Given the description of an element on the screen output the (x, y) to click on. 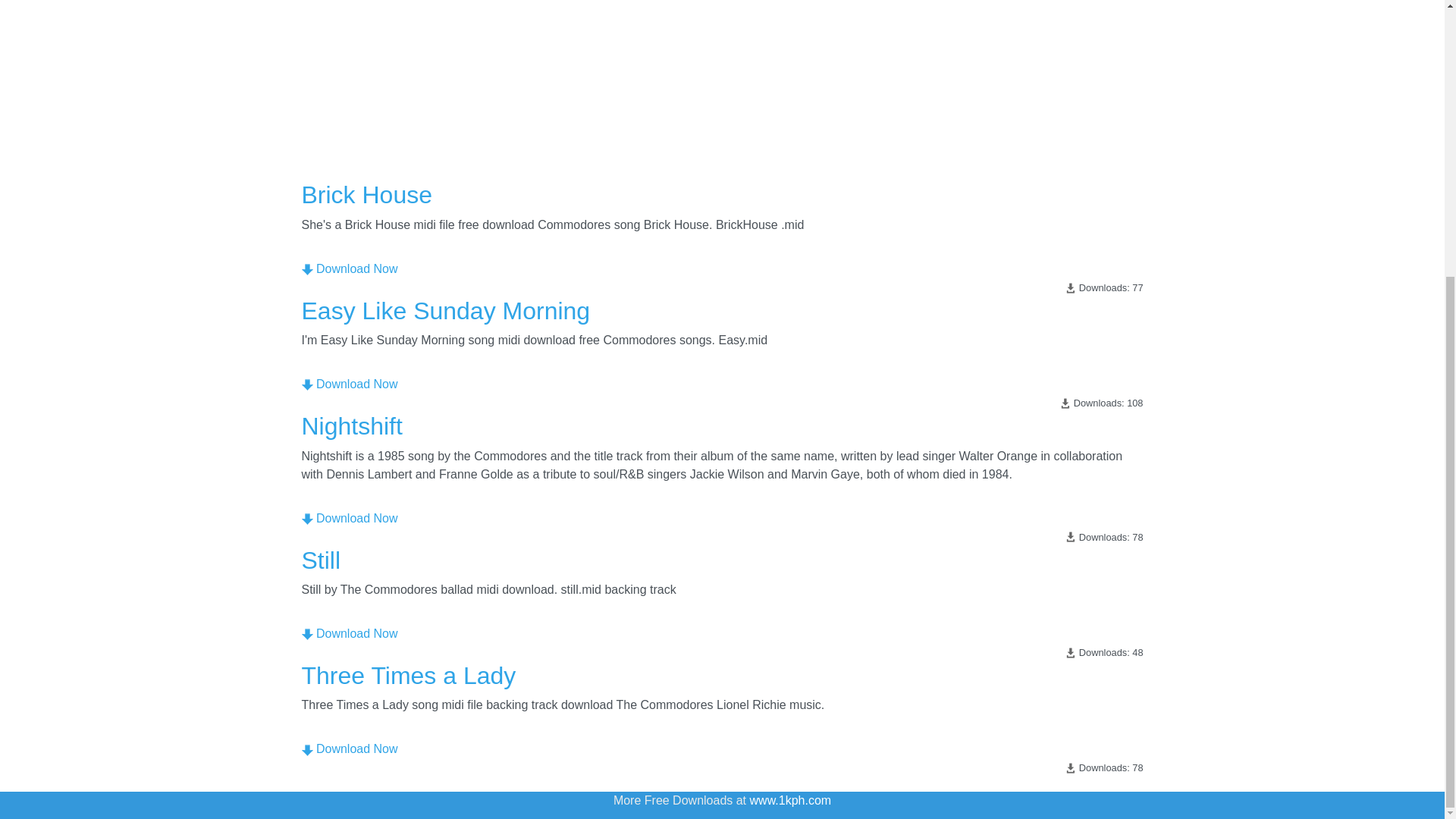
Download Now (349, 268)
Download Three Times a Lady (307, 749)
Download Easy Like Sunday Morning (307, 384)
Download Brick House (307, 269)
Download Nightshift (307, 518)
Advertisement (721, 68)
Download Still (307, 633)
